Given the description of an element on the screen output the (x, y) to click on. 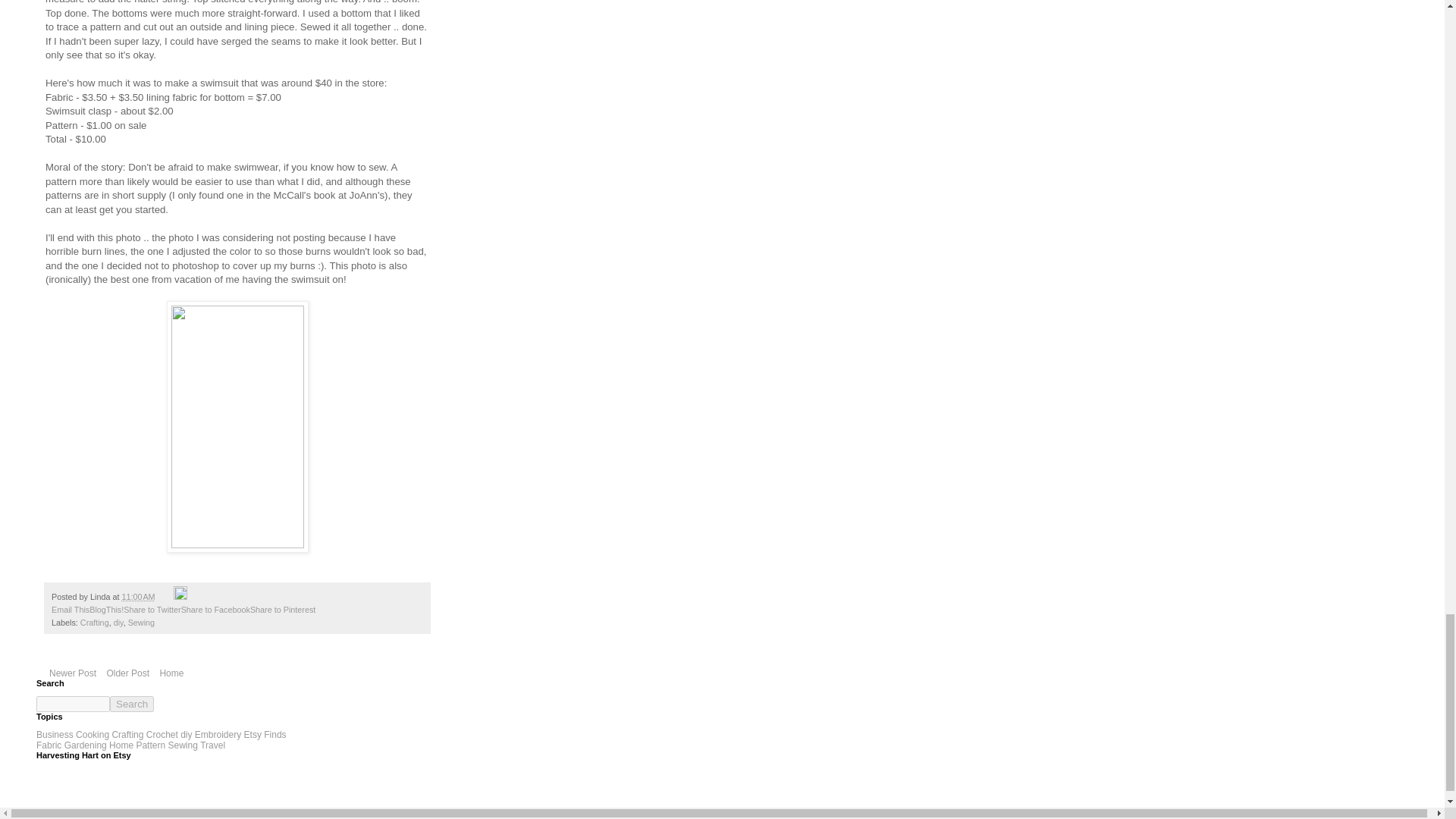
Share to Twitter (151, 609)
Email This (69, 609)
Email Post (165, 596)
Home (171, 673)
Share to Pinterest (282, 609)
search (73, 703)
Share to Twitter (151, 609)
search (132, 703)
Sewing (141, 622)
Share to Pinterest (282, 609)
Older Post (126, 673)
diy (118, 622)
Search (132, 703)
Crafting (94, 622)
